Given the description of an element on the screen output the (x, y) to click on. 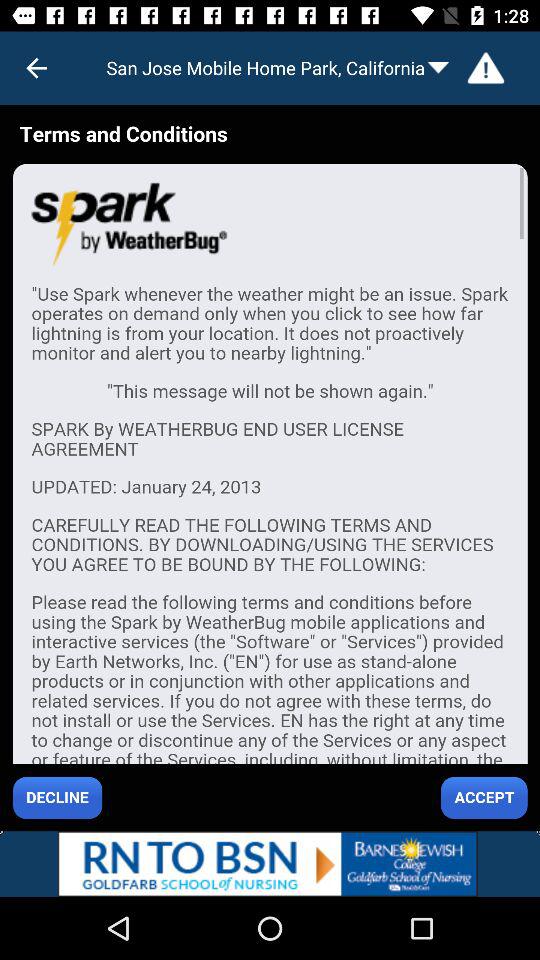
advertisement (270, 468)
